Given the description of an element on the screen output the (x, y) to click on. 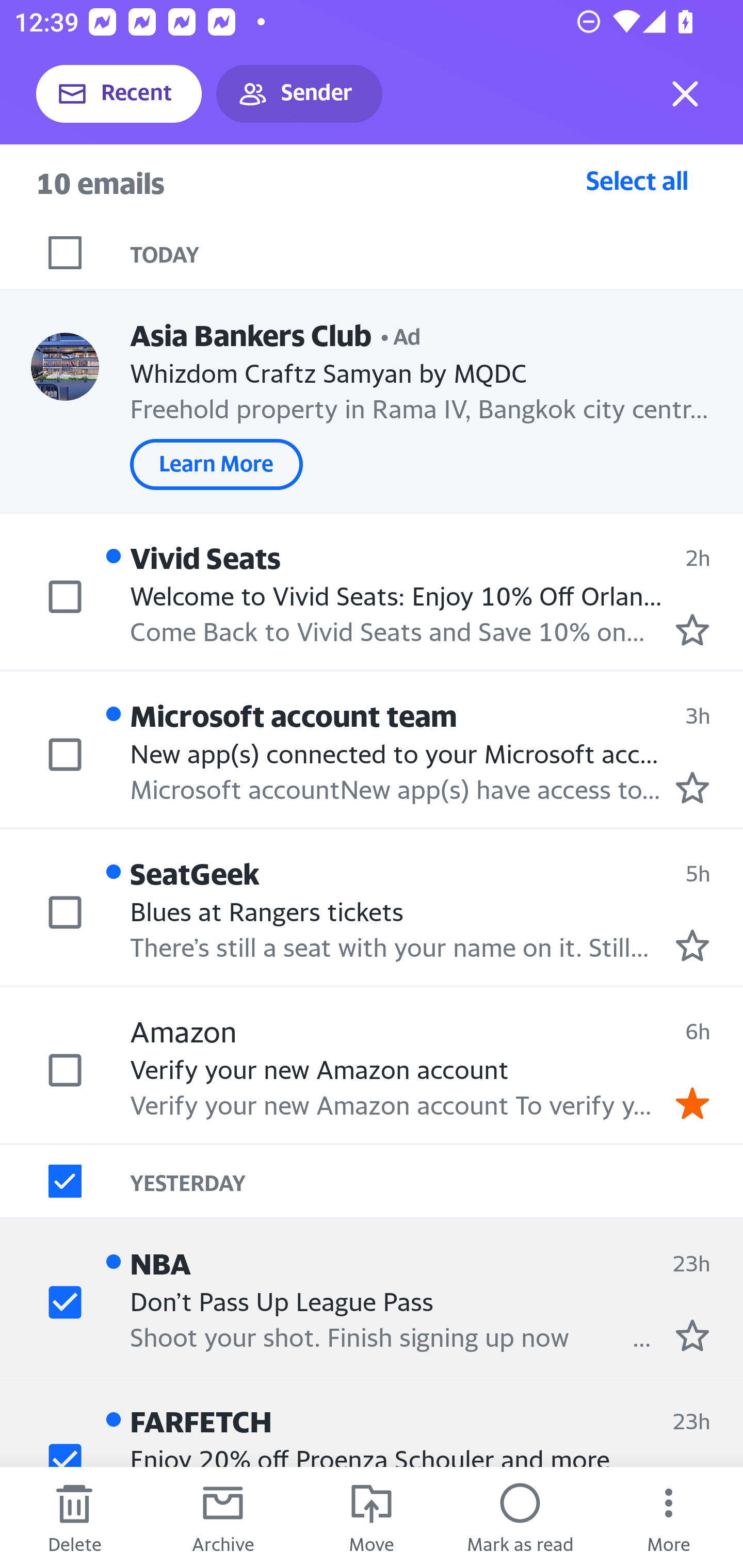
Sender (299, 93)
Exit selection mode (684, 93)
Select all (637, 180)
TODAY (436, 252)
Mark as starred. (692, 629)
Mark as starred. (692, 787)
Mark as starred. (692, 944)
Remove star. (692, 1103)
YESTERDAY (436, 1181)
Mark as starred. (692, 1335)
Delete (74, 1517)
Archive (222, 1517)
Move (371, 1517)
Mark as read (519, 1517)
More (668, 1517)
